Given the description of an element on the screen output the (x, y) to click on. 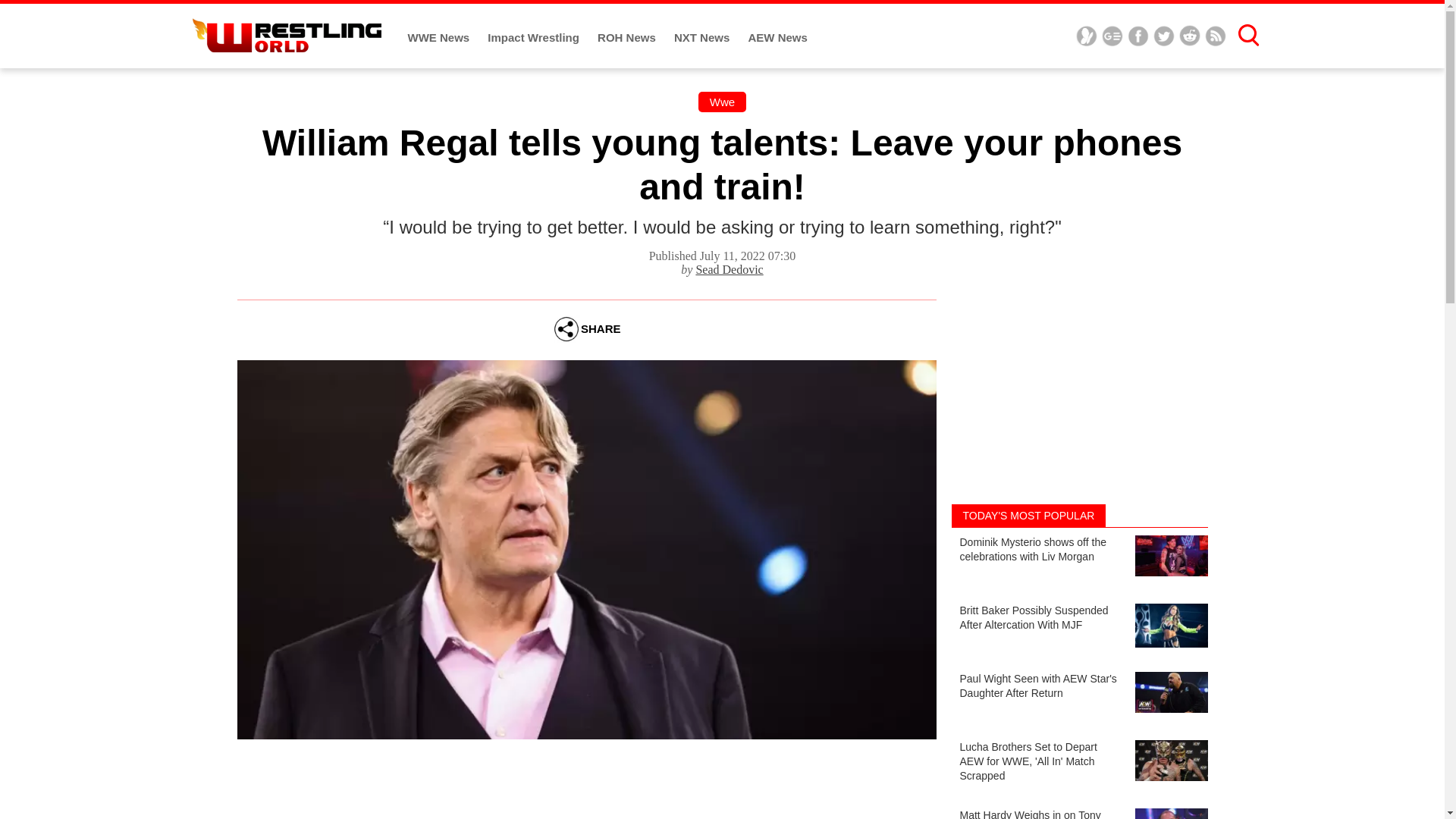
Sead Dedovic (728, 269)
WWE News (440, 37)
AEW News (777, 37)
Wwe (722, 101)
Impact Wrestling (534, 37)
Paul Wight Seen with AEW Star's Daughter After Return (1078, 697)
ROH News (627, 37)
Britt Baker Possibly Suspended After Altercation With MJF (1078, 629)
NXT News (703, 37)
Dominik Mysterio shows off the celebrations with Liv Morgan (1078, 561)
